Given the description of an element on the screen output the (x, y) to click on. 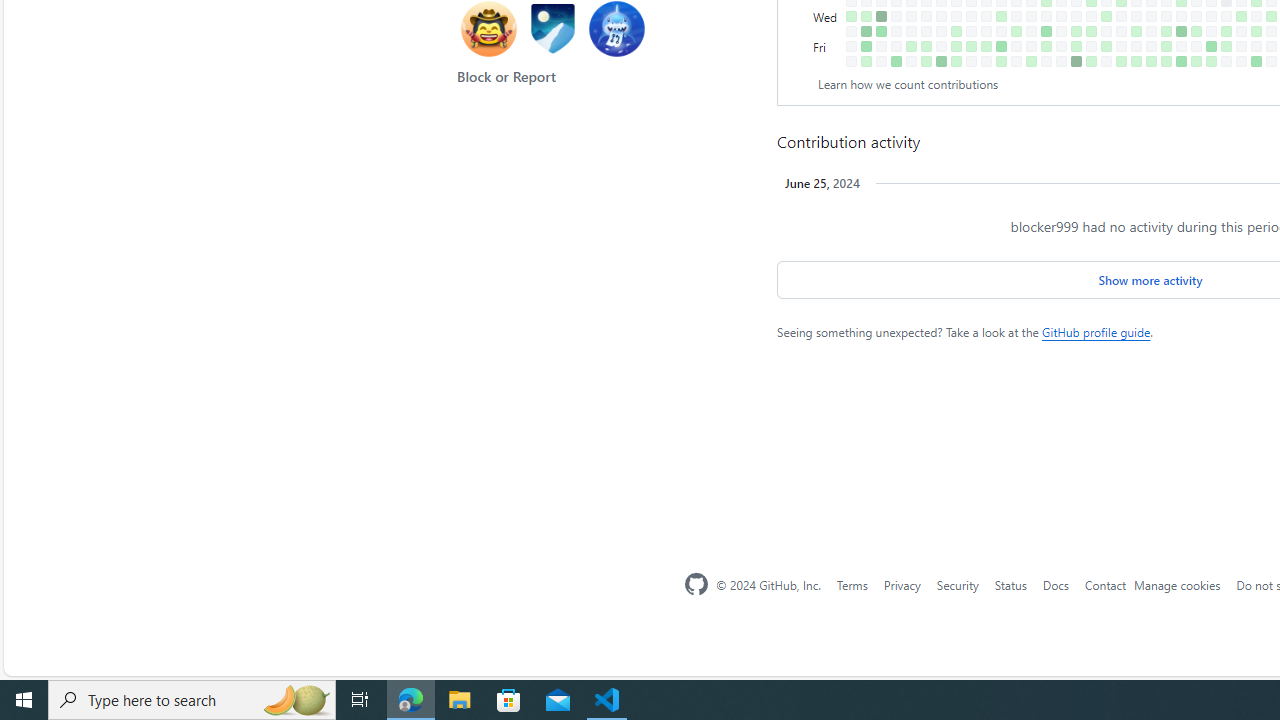
Manage cookies (1177, 584)
No contributions on January 26th. (896, 46)
No contributions on January 5th. (851, 46)
No contributions on January 24th. (896, 16)
No contributions on May 8th. (1121, 16)
No contributions on July 4th. (1241, 30)
1 contribution on June 1st. (1166, 61)
3 contributions on March 30th. (1031, 61)
No contributions on April 17th. (1076, 16)
5 contributions on April 4th. (1046, 30)
No contributions on July 5th. (1241, 46)
7 contributions on January 11th. (866, 30)
6 contributions on March 15th. (1001, 46)
3 contributions on June 15th. (1195, 61)
7 contributions on June 6th. (1181, 30)
